Given the description of an element on the screen output the (x, y) to click on. 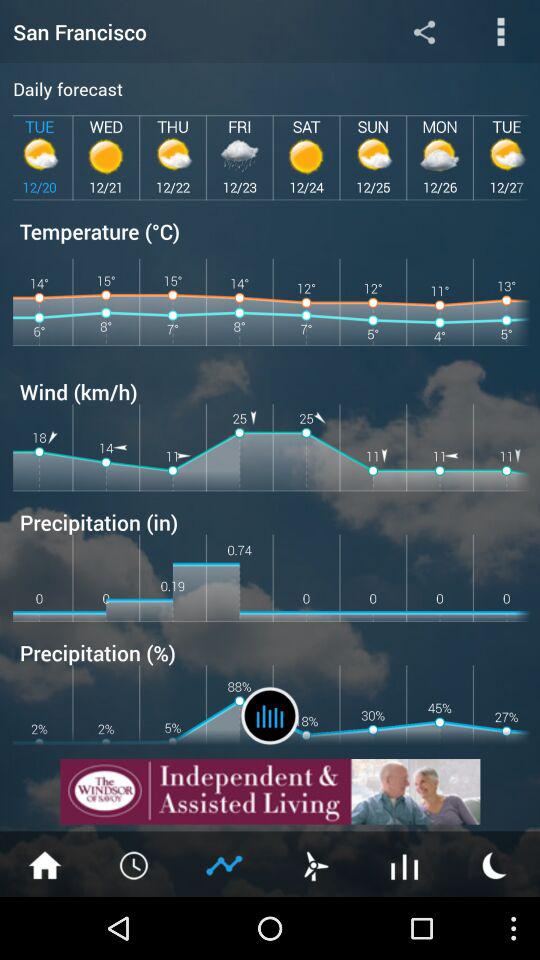
click to forecast icon (269, 715)
